Given the description of an element on the screen output the (x, y) to click on. 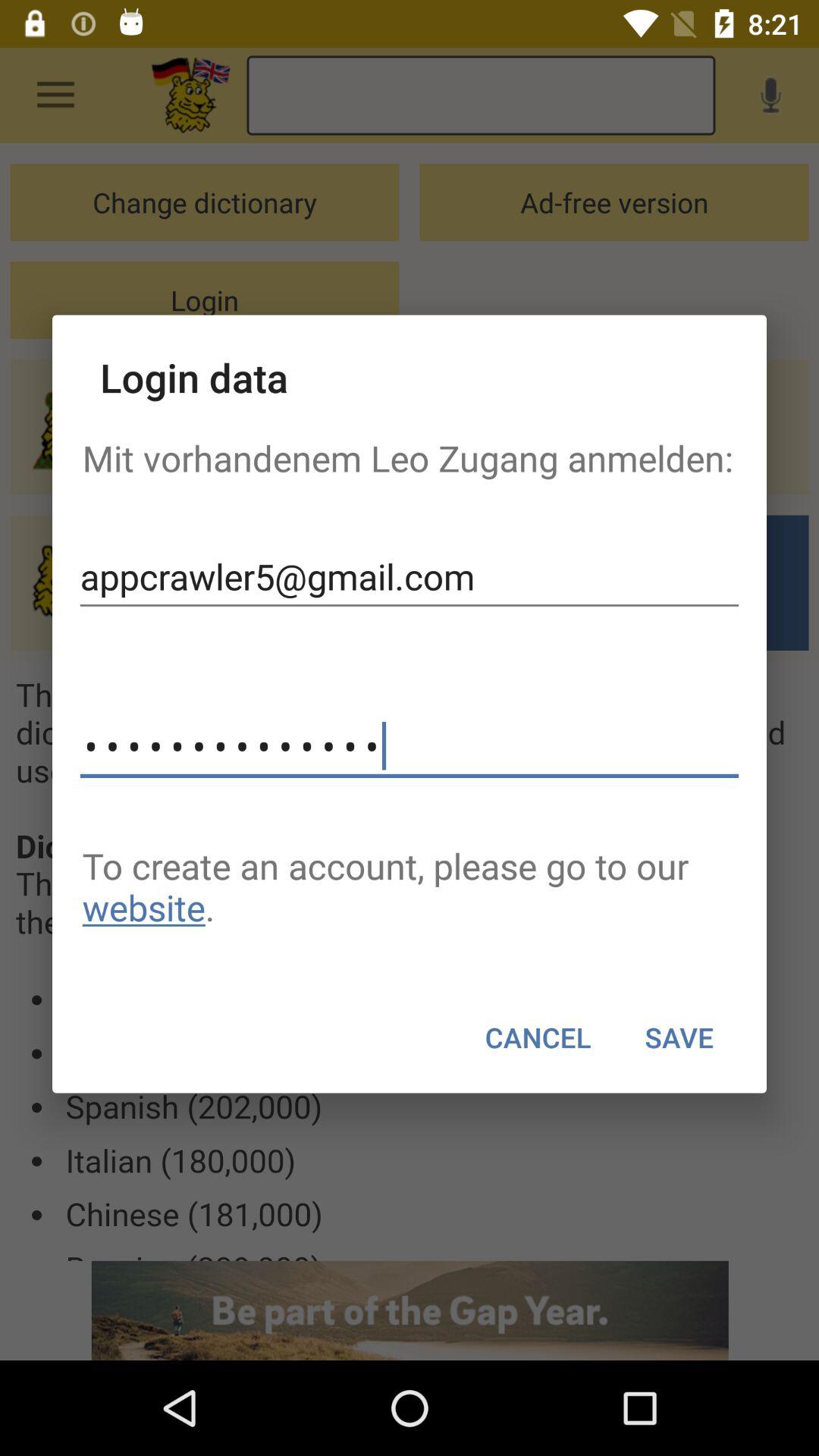
turn on item next to cancel item (678, 1037)
